Given the description of an element on the screen output the (x, y) to click on. 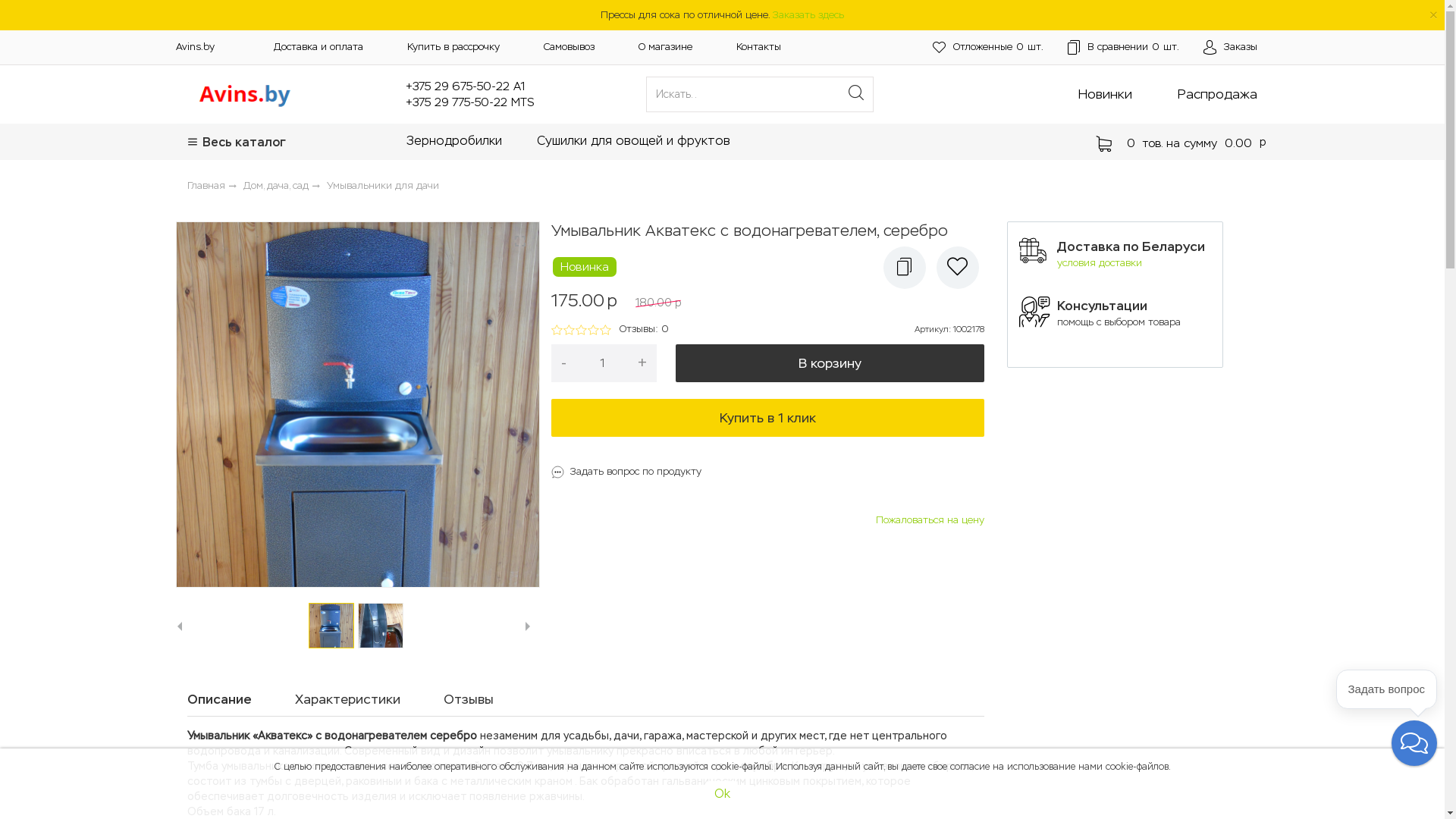
+375 29 675-50-22 A1 Element type: text (464, 85)
Ok Element type: text (721, 793)
- Element type: text (563, 363)
+ Element type: text (641, 363)
+375 29 775-50-22 MTS Element type: text (469, 101)
